Given the description of an element on the screen output the (x, y) to click on. 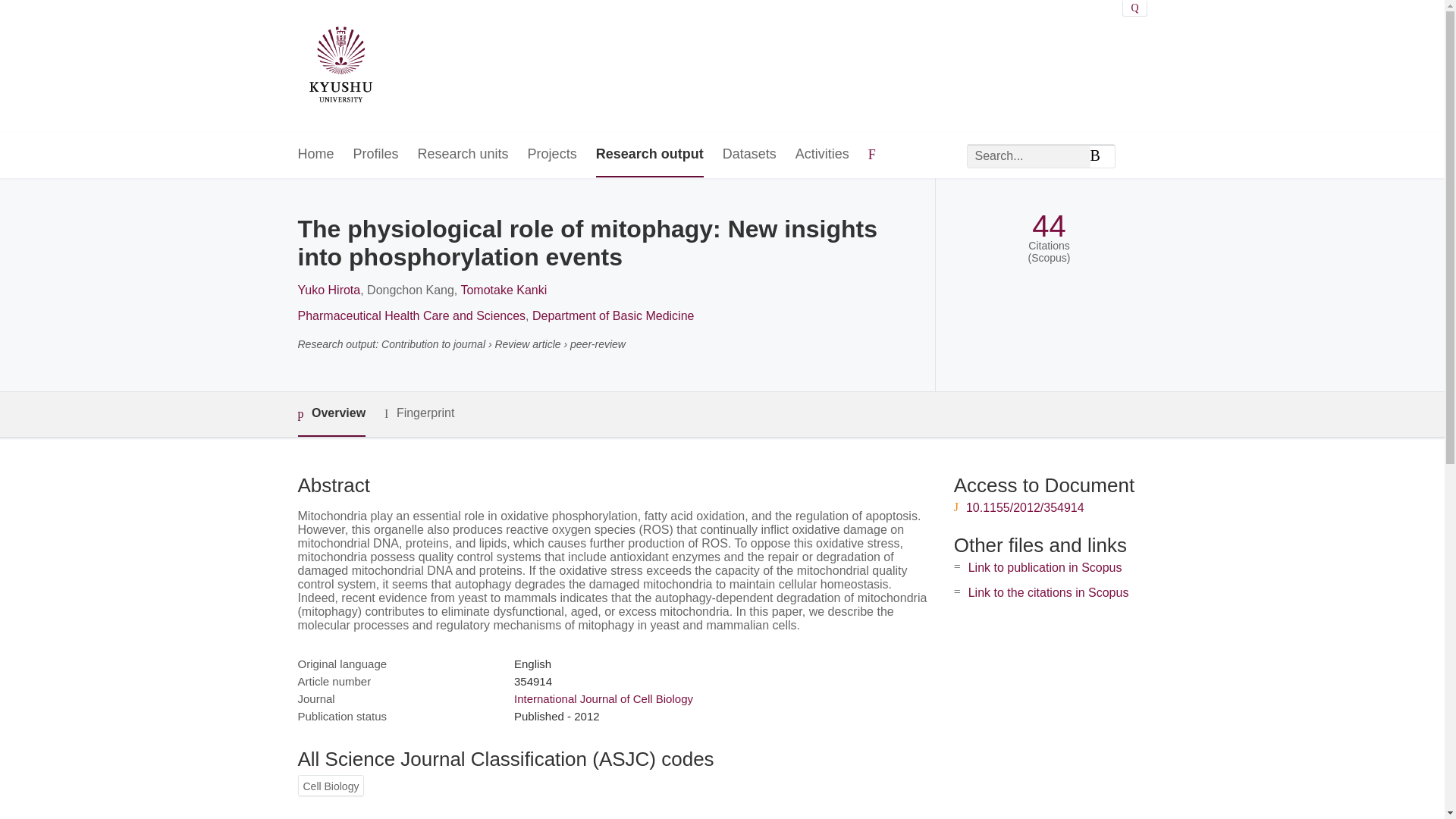
Fingerprint (419, 413)
Department of Basic Medicine (613, 315)
Overview (331, 414)
Tomotake Kanki (503, 289)
Yuko Hirota (328, 289)
Research units (462, 154)
Link to the citations in Scopus (1048, 592)
Research output (649, 154)
Pharmaceutical Health Care and Sciences (411, 315)
Activities (821, 154)
Datasets (749, 154)
44 (1048, 225)
International Journal of Cell Biology (603, 698)
Profiles (375, 154)
